Given the description of an element on the screen output the (x, y) to click on. 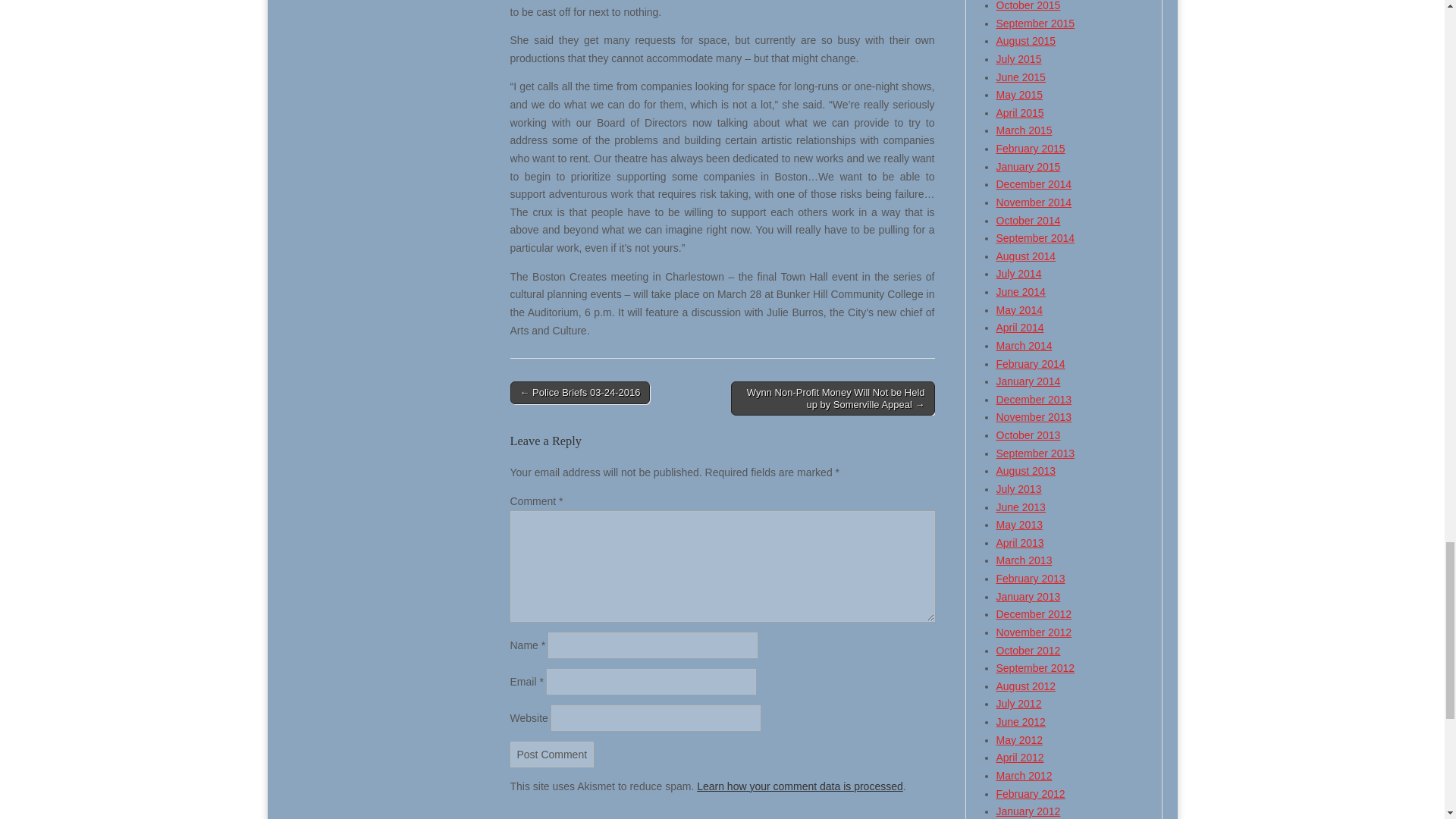
Learn how your comment data is processed (799, 786)
Post Comment (551, 754)
Post Comment (551, 754)
